Given the description of an element on the screen output the (x, y) to click on. 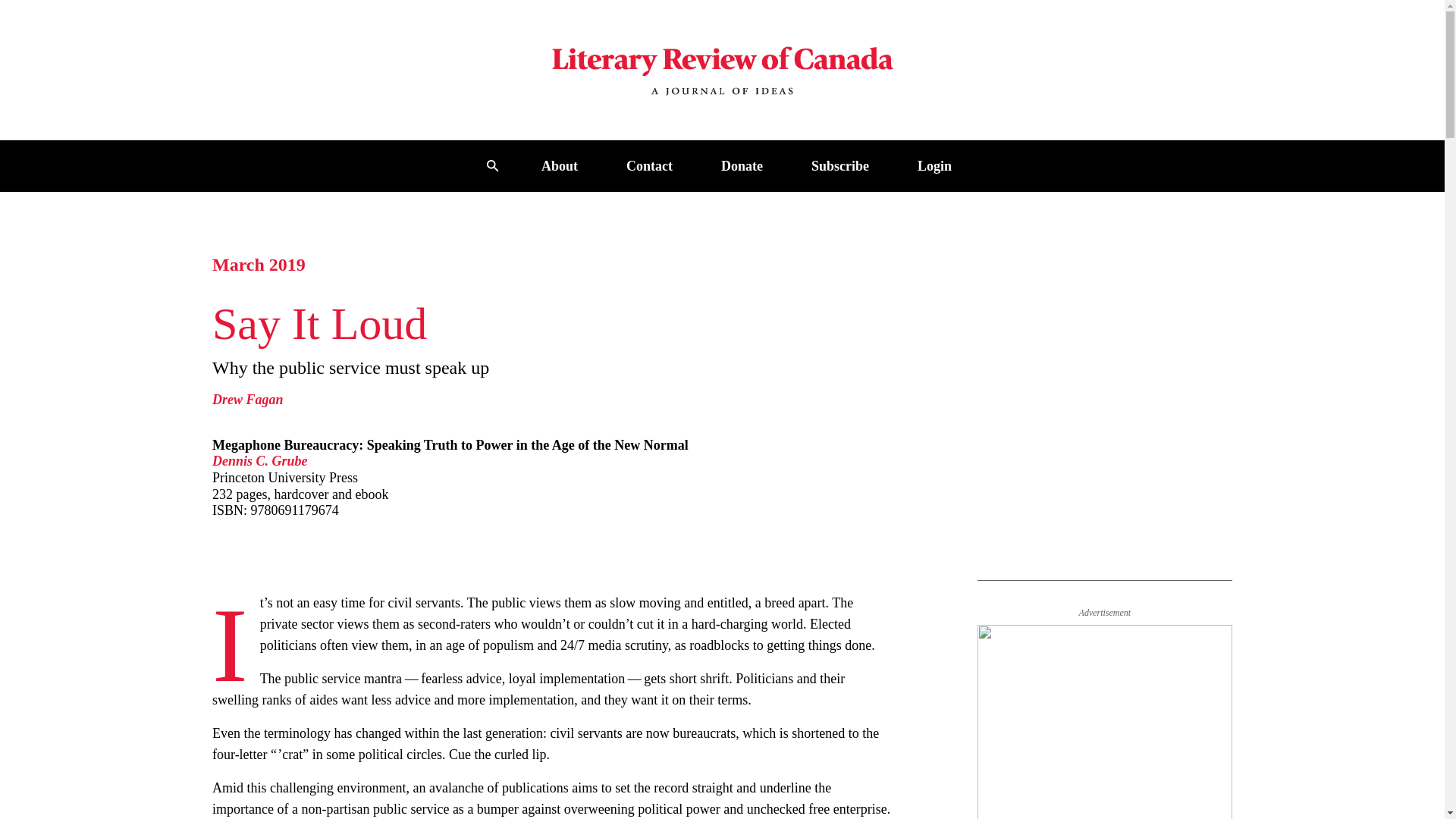
Donate (742, 165)
Contact (649, 165)
Login (934, 165)
About (559, 165)
Subscribe (840, 165)
